Given the description of an element on the screen output the (x, y) to click on. 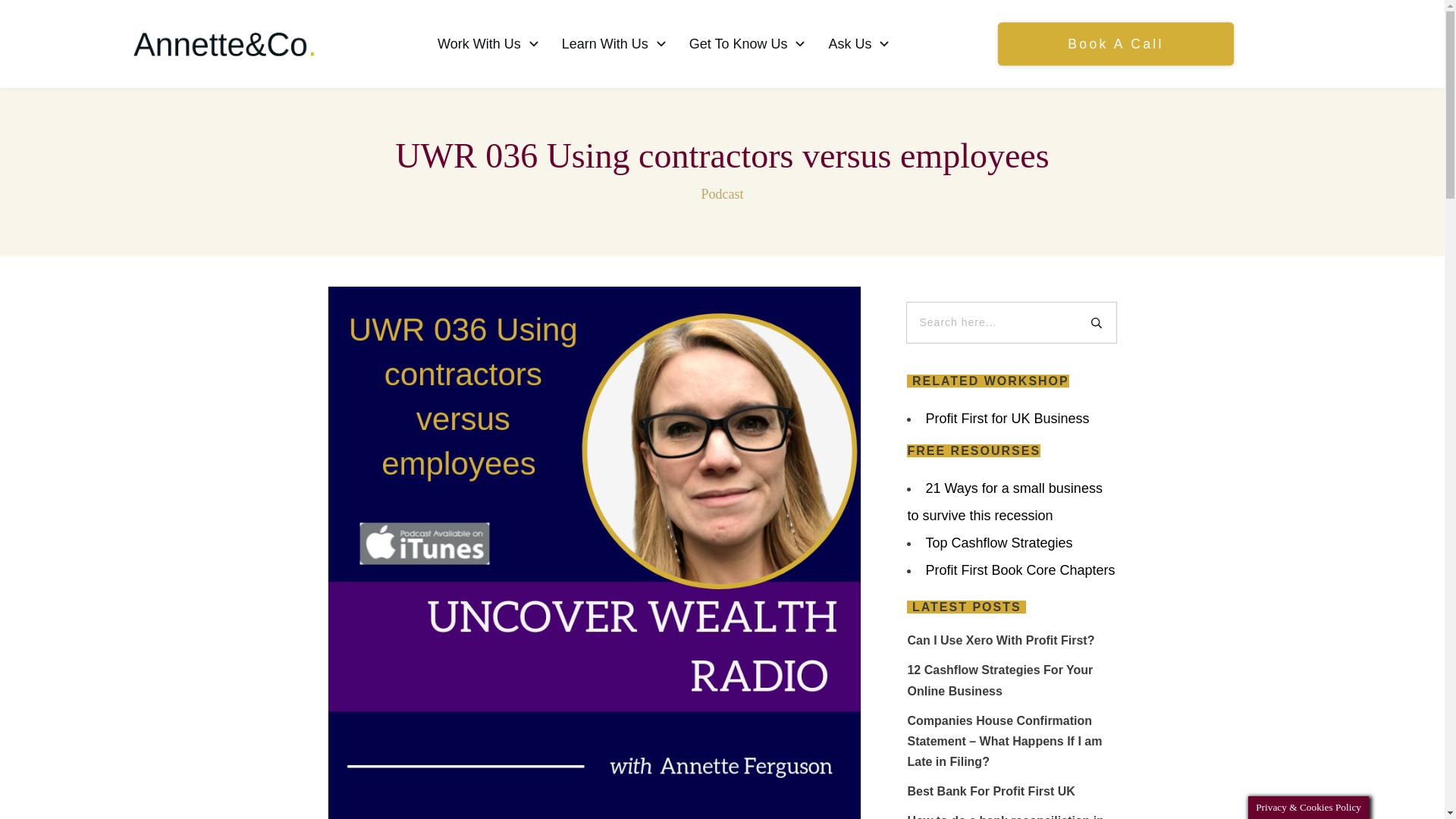
Work With Us (489, 43)
Podcast (721, 193)
Book A Call (1104, 42)
Podcast (721, 193)
Ask Us (859, 43)
Learn With Us (615, 43)
Get To Know Us (748, 43)
